Given the description of an element on the screen output the (x, y) to click on. 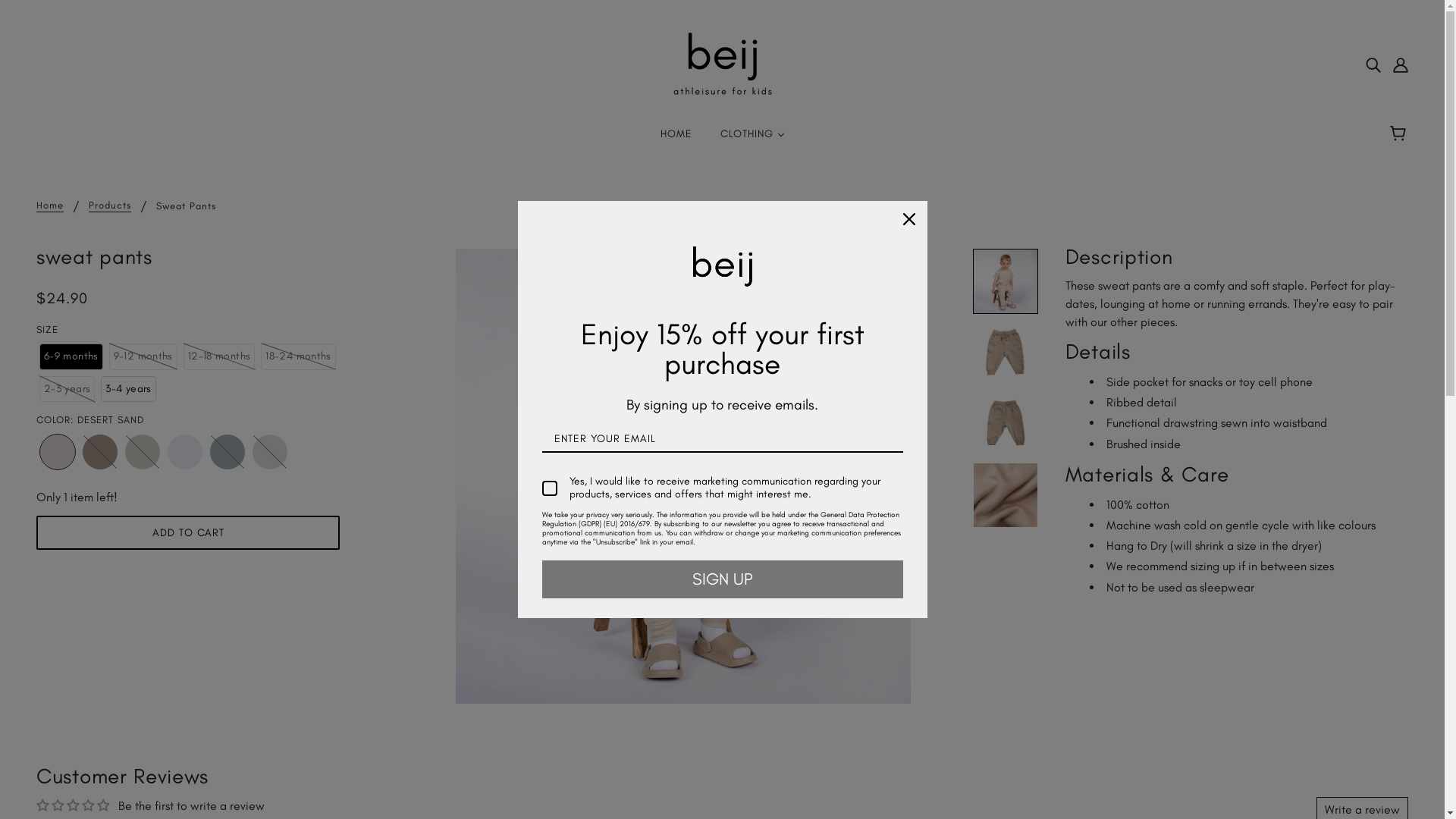
SIGN UP Element type: text (721, 579)
Products Element type: text (109, 206)
CLOTHING Element type: text (752, 139)
Home Element type: text (49, 206)
ADD TO CART Element type: text (187, 532)
beij Element type: hover (721, 63)
HOME Element type: text (675, 139)
